Given the description of an element on the screen output the (x, y) to click on. 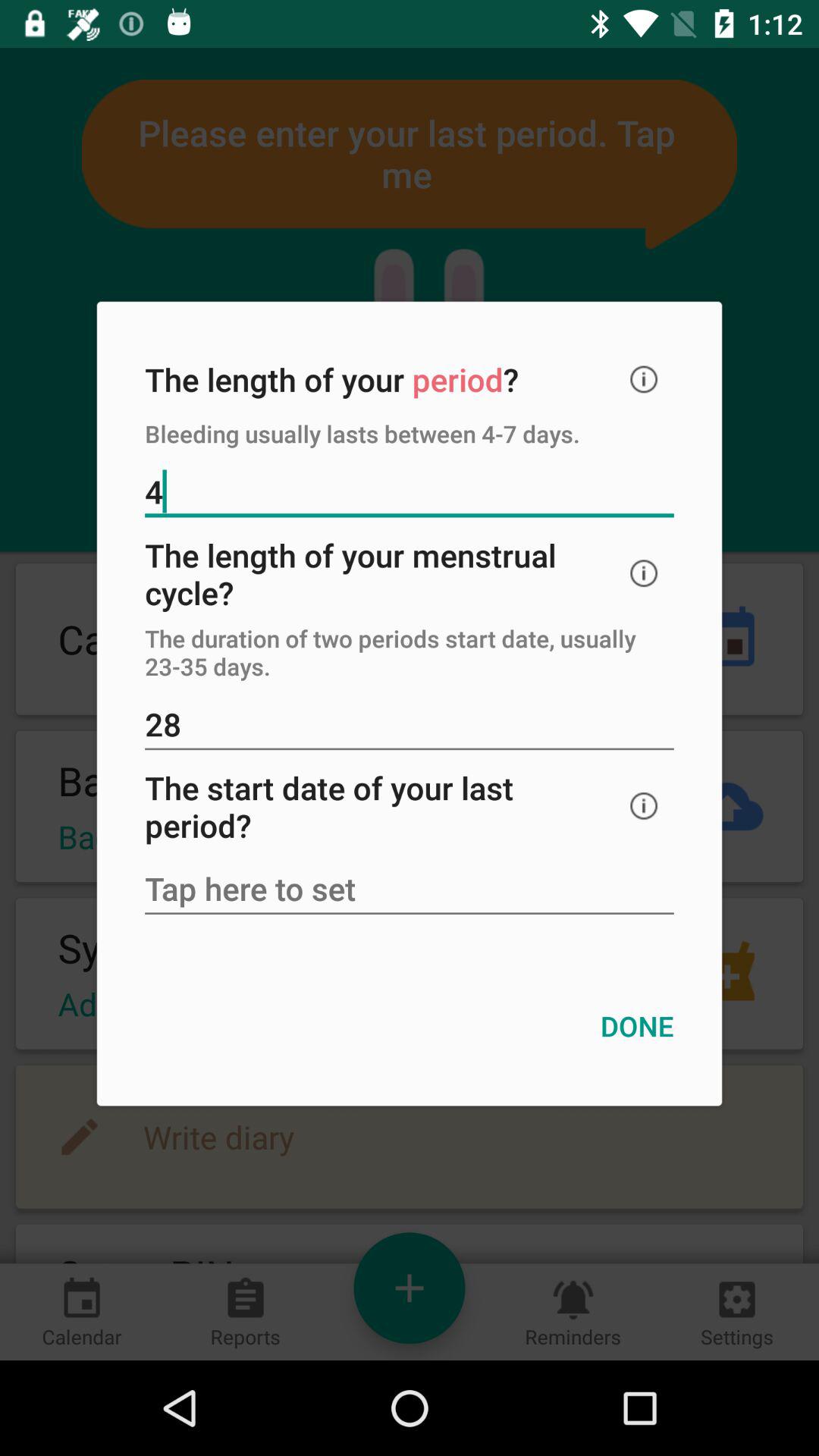
launch item above done icon (409, 890)
